Given the description of an element on the screen output the (x, y) to click on. 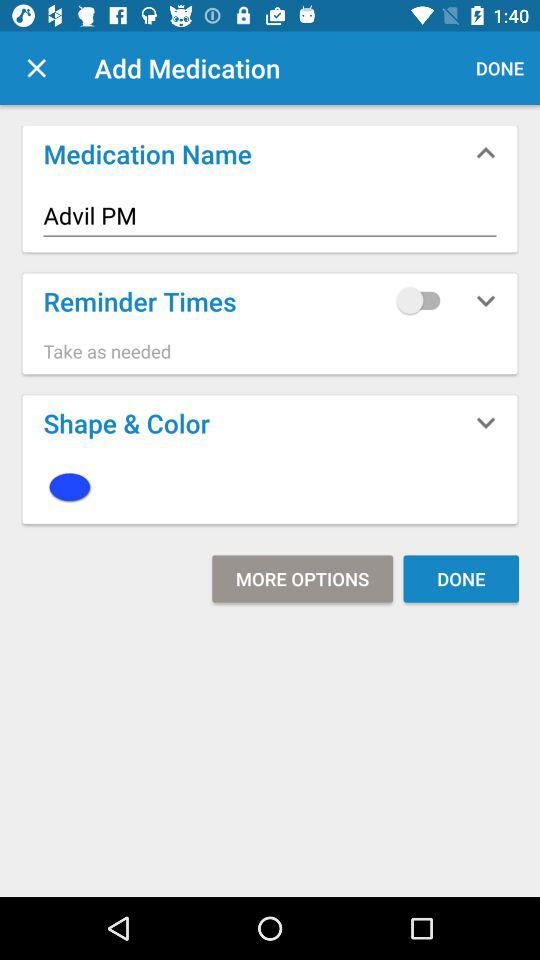
press item below the advil pm icon (423, 300)
